Given the description of an element on the screen output the (x, y) to click on. 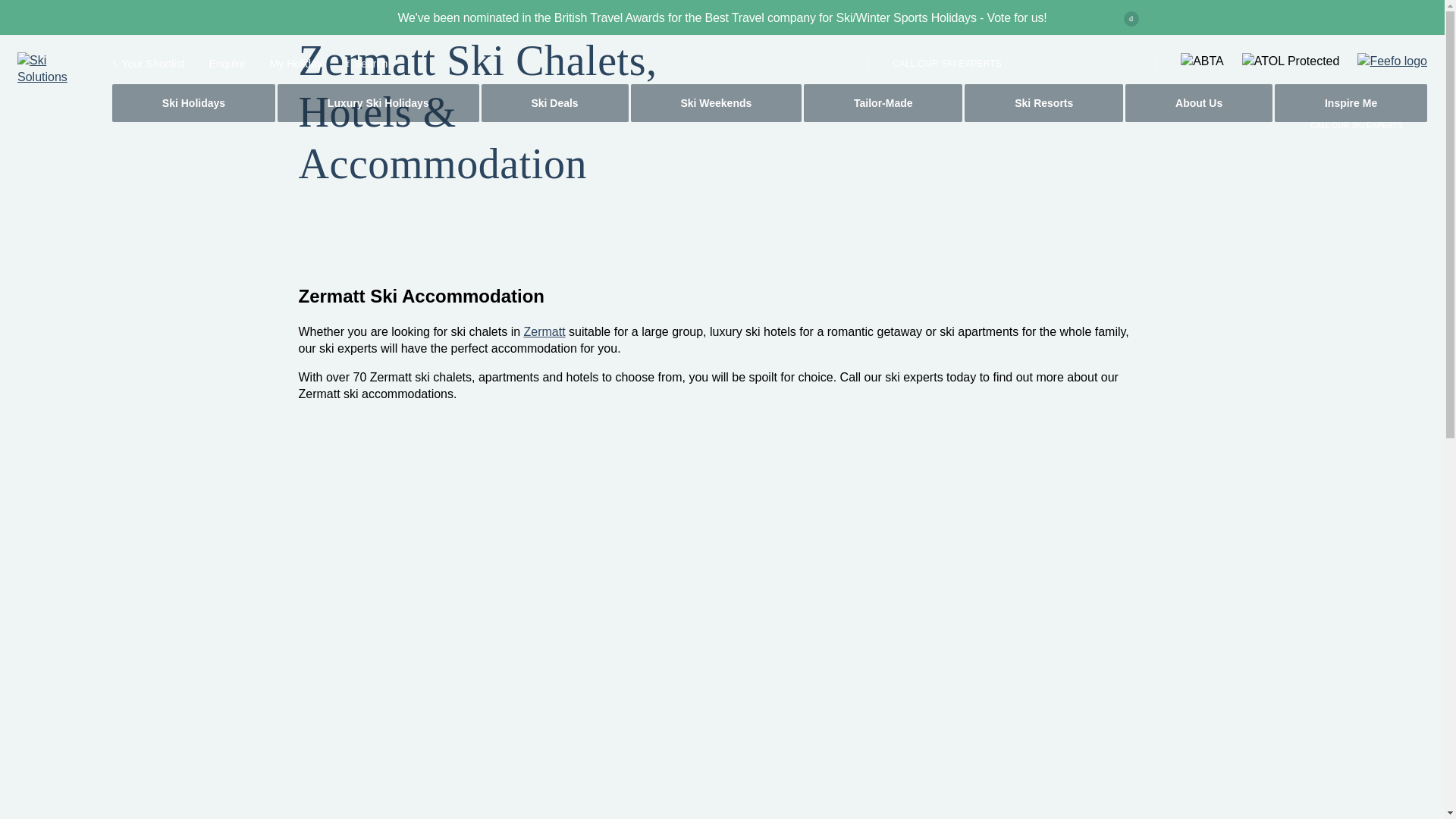
See what our customers say about us (1391, 61)
About Us (1198, 103)
Ski Weekends (716, 103)
Search (366, 63)
Tailor-Made (882, 103)
Your Shortlist (148, 63)
Inspire Me (1350, 103)
Tailor-Made (882, 103)
Ski Resorts (1042, 103)
Enquire (226, 63)
